Given the description of an element on the screen output the (x, y) to click on. 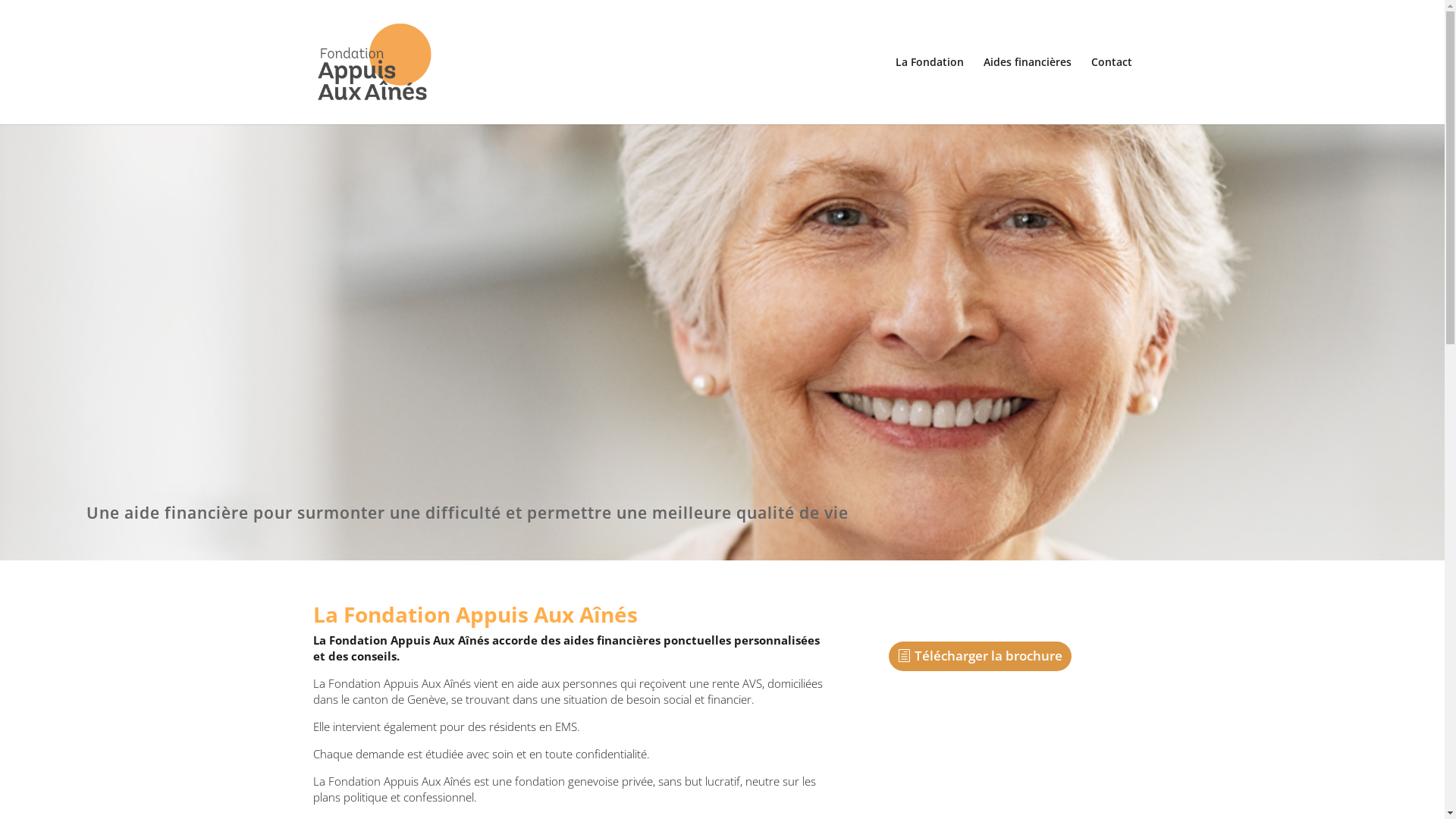
Contact Element type: text (1110, 90)
La Fondation Element type: text (928, 90)
